Given the description of an element on the screen output the (x, y) to click on. 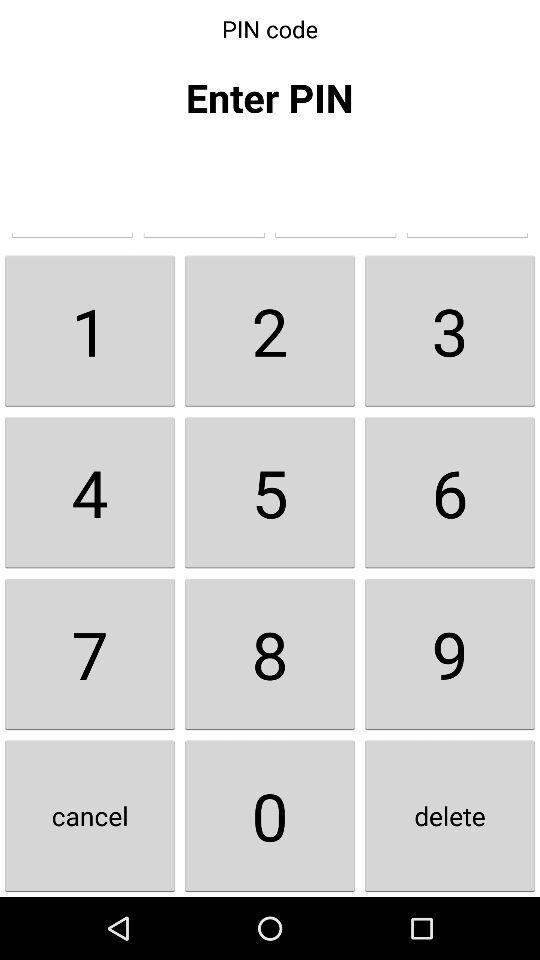
choose the item below the 4 button (270, 654)
